Given the description of an element on the screen output the (x, y) to click on. 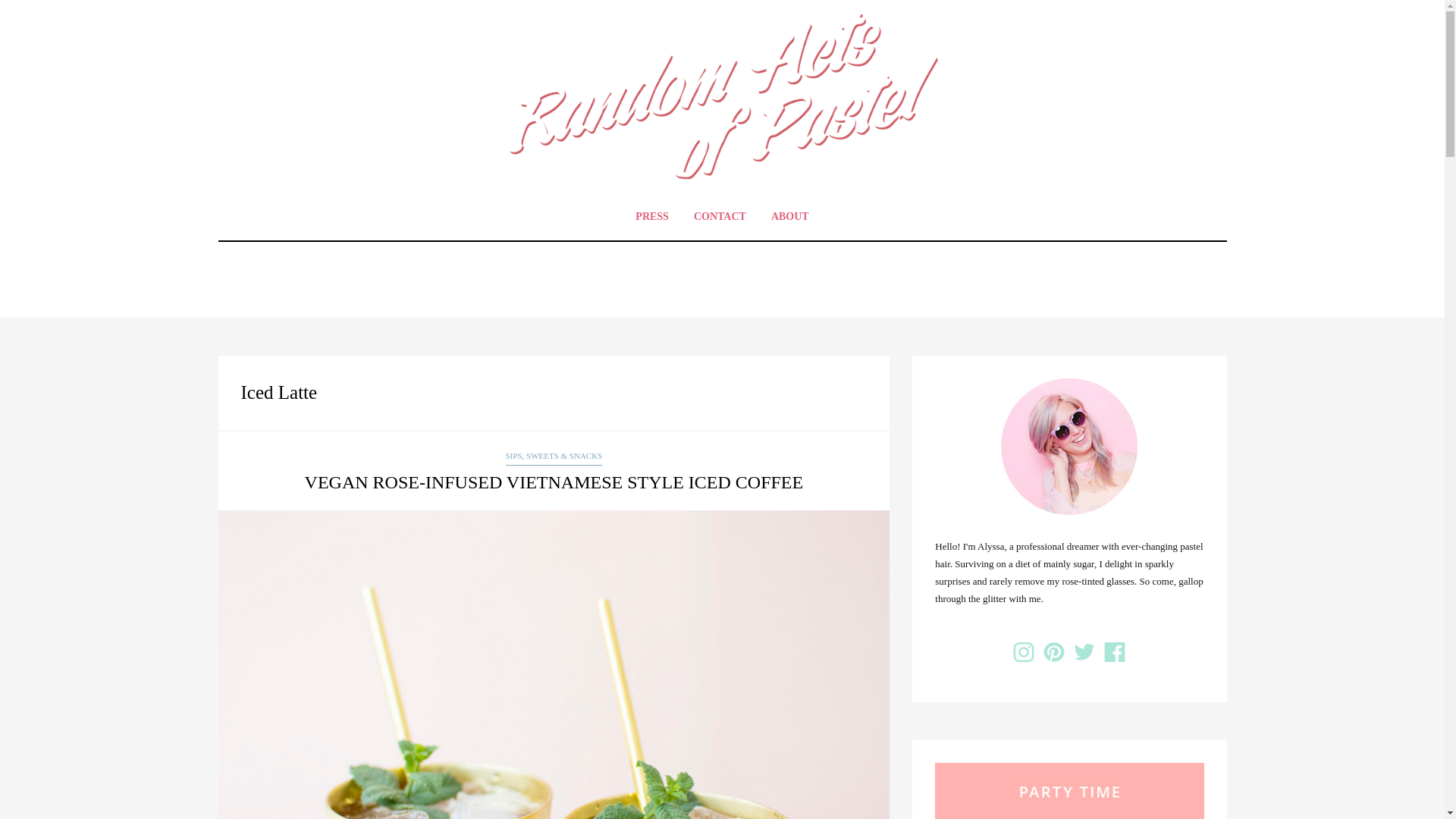
ABOUT (790, 216)
CONTACT (719, 216)
VEGAN ROSE-INFUSED VIETNAMESE STYLE ICED COFFEE (553, 482)
PRESS (651, 216)
Search (31, 13)
